Given the description of an element on the screen output the (x, y) to click on. 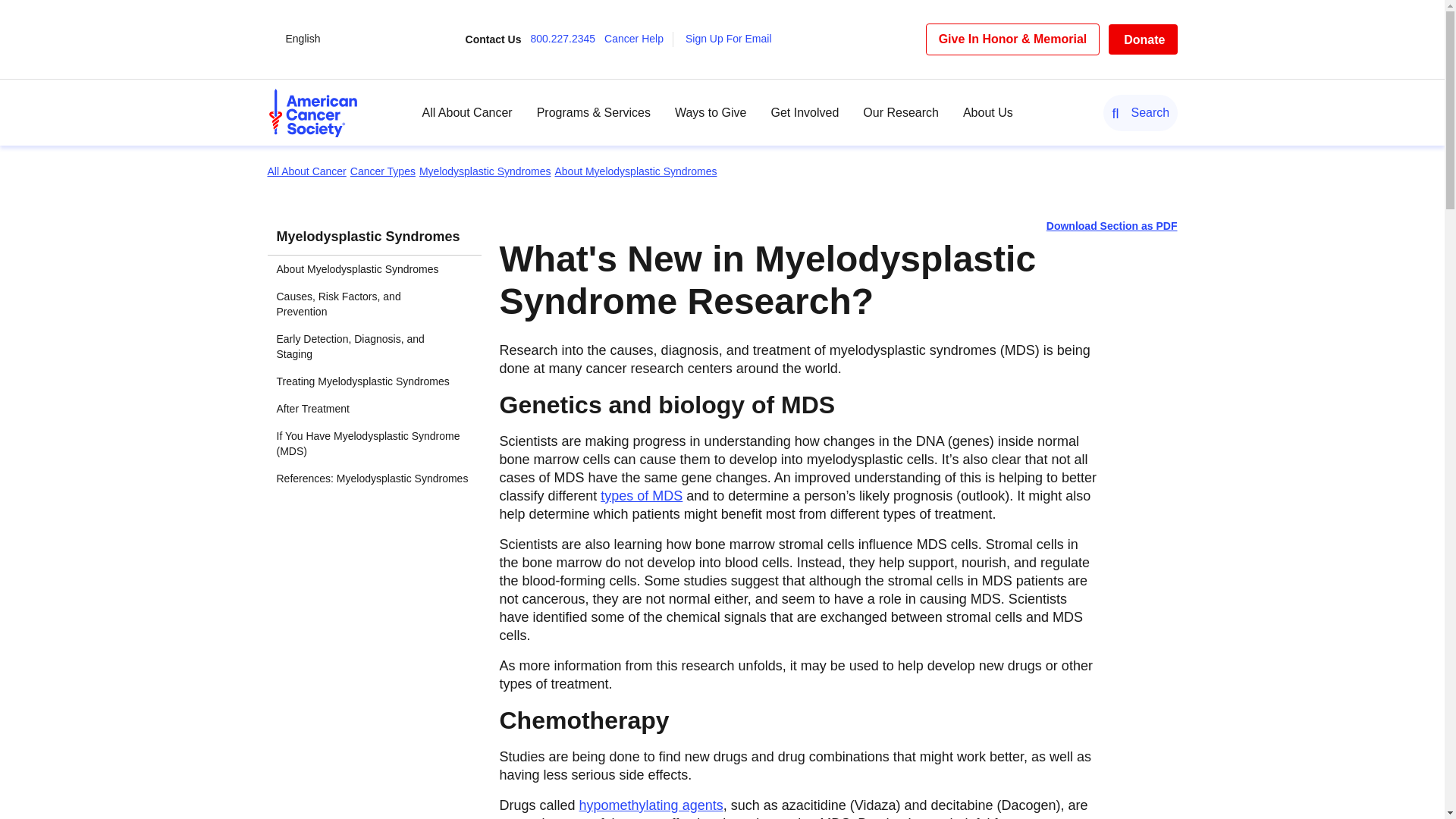
Cancer Help (638, 39)
800.227.2345 (566, 39)
Donate (1142, 39)
English (302, 39)
Sign Up For Email (732, 39)
All About Cancer (467, 111)
